Given the description of an element on the screen output the (x, y) to click on. 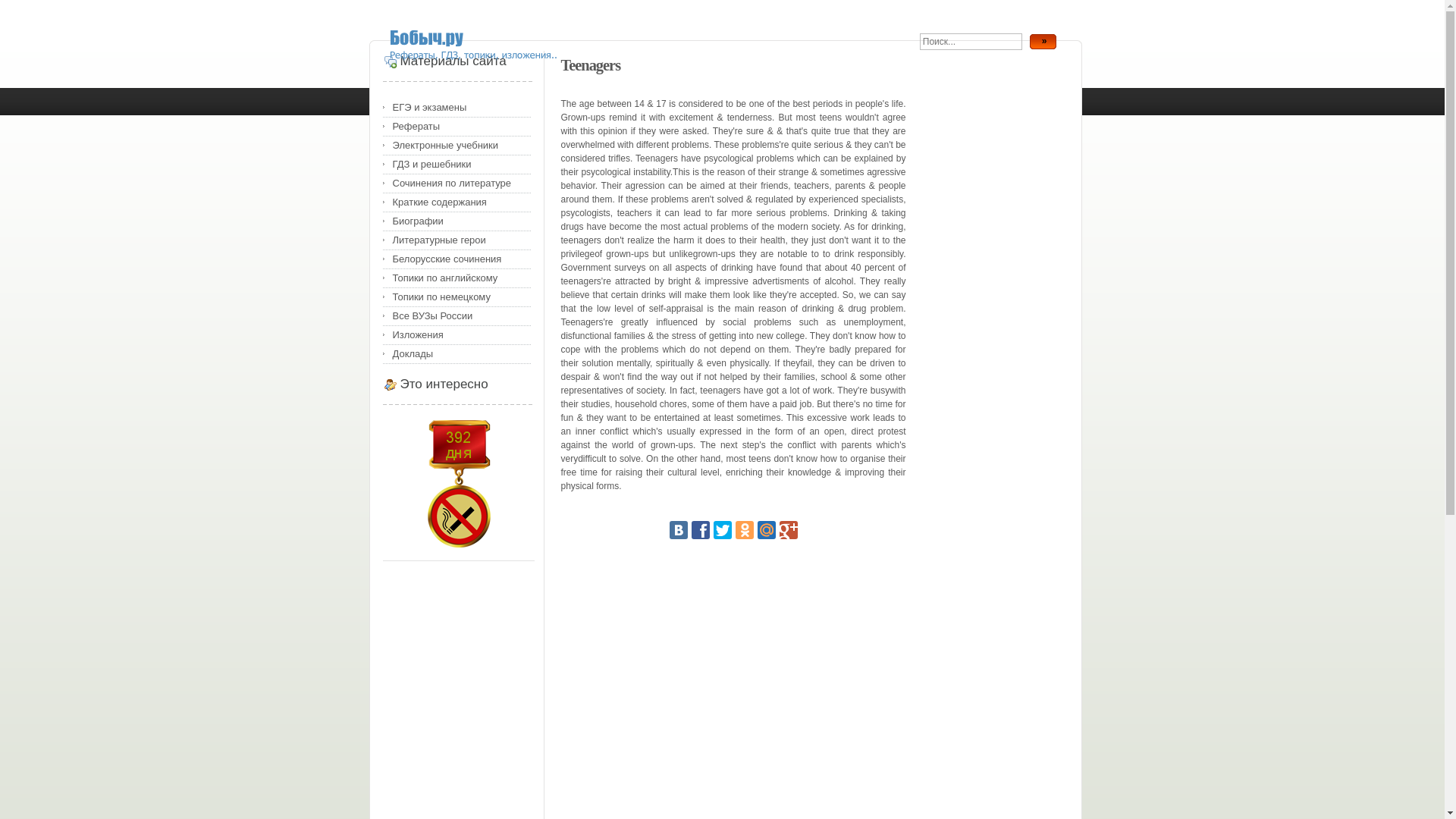
Advertisement (665, 799)
Facebook (700, 529)
Advertisement (732, 673)
Twitter (722, 529)
Google Plus (787, 529)
